Given the description of an element on the screen output the (x, y) to click on. 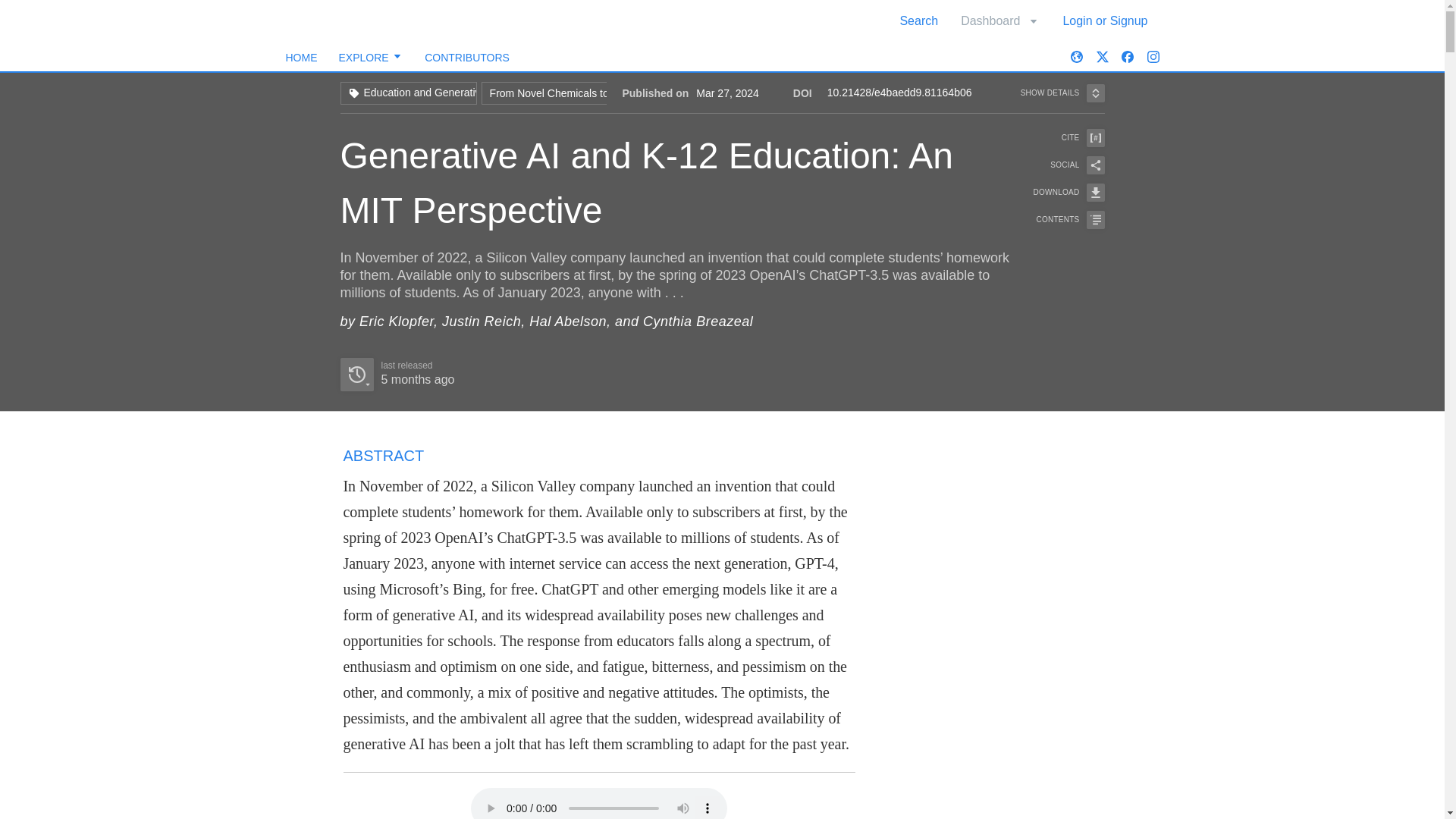
Login or Signup (671, 82)
From Novel Chemicals to Opera (1104, 20)
2024-03-27 04:43 (565, 92)
HOME (417, 379)
Dashboard (301, 57)
DOWNLOAD (1000, 20)
CONTRIBUTORS (1058, 192)
SHOW DETAILS (467, 57)
